Given the description of an element on the screen output the (x, y) to click on. 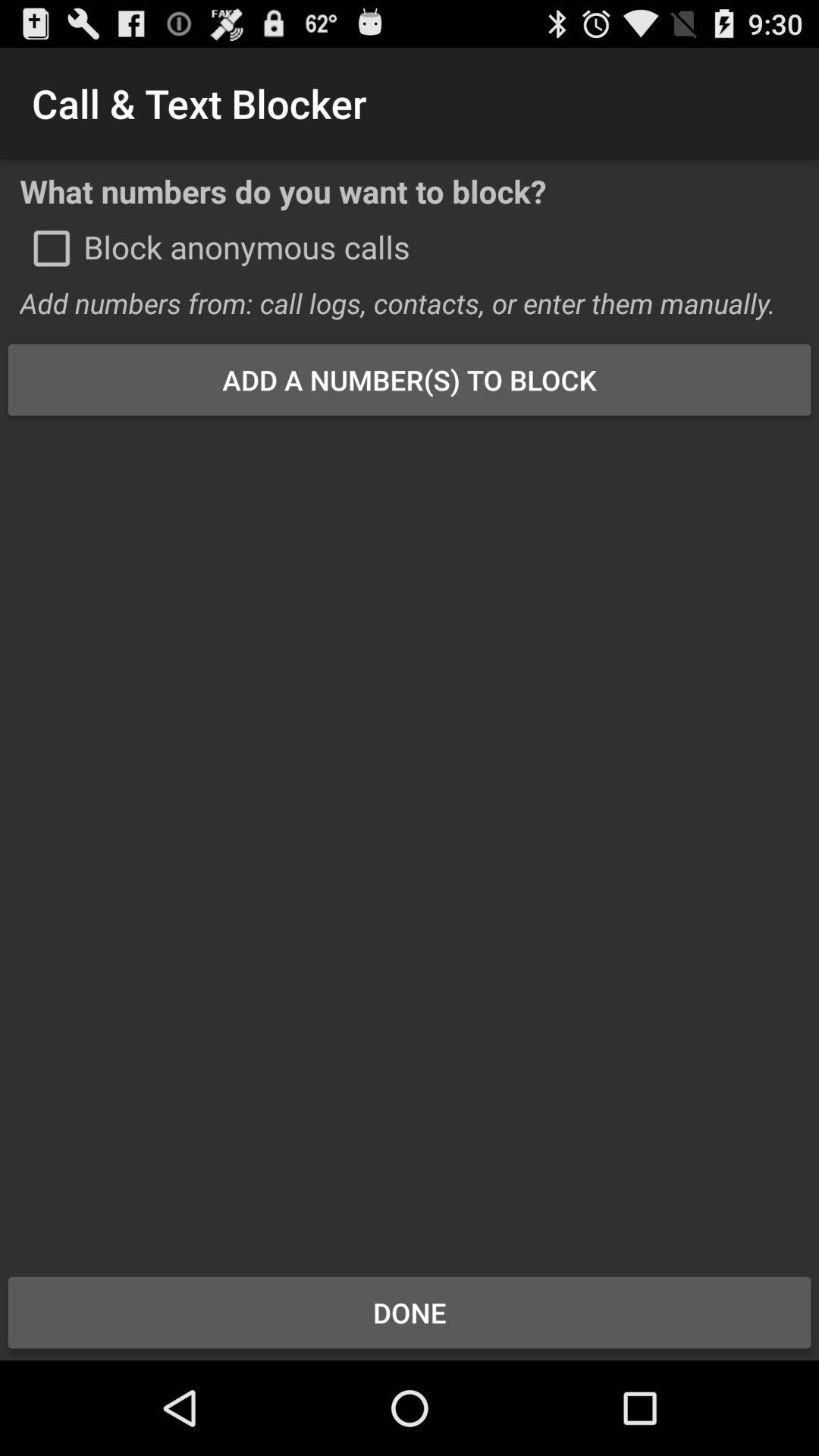
checkbox option (51, 248)
